Given the description of an element on the screen output the (x, y) to click on. 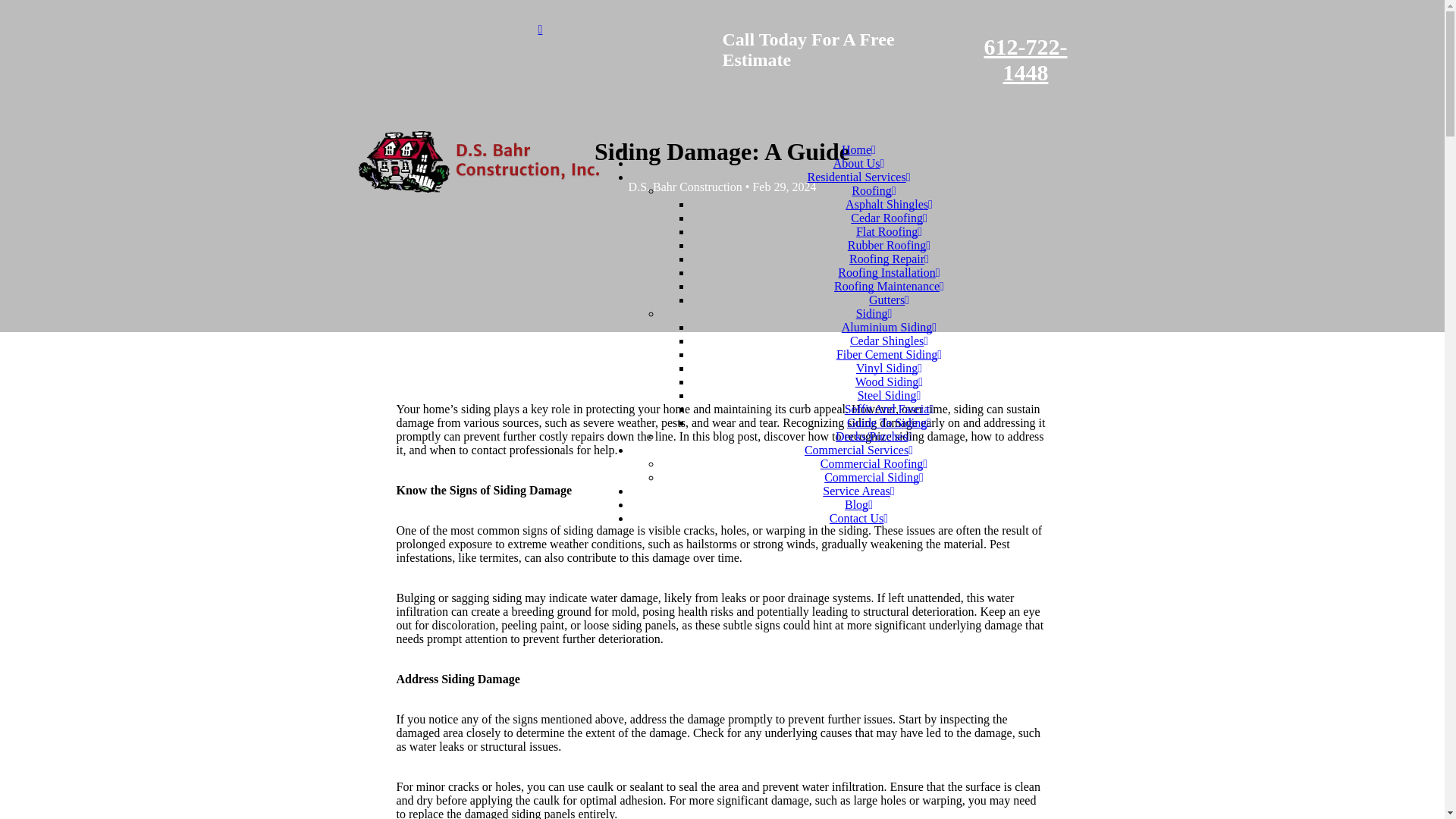
Home (858, 149)
612-722-1448 (1025, 59)
About Us (858, 163)
